Given the description of an element on the screen output the (x, y) to click on. 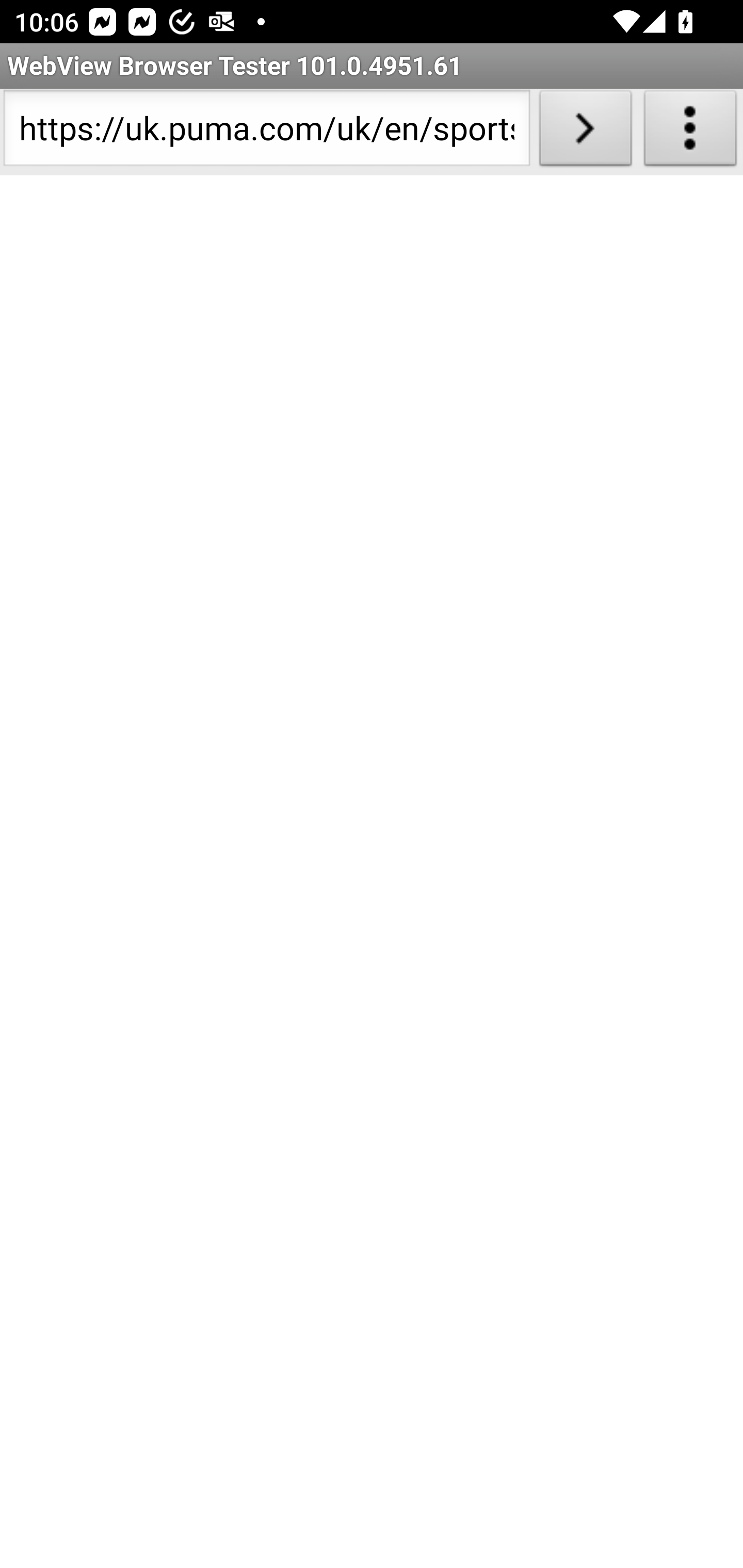
Load URL (585, 132)
About WebView (690, 132)
